Given the description of an element on the screen output the (x, y) to click on. 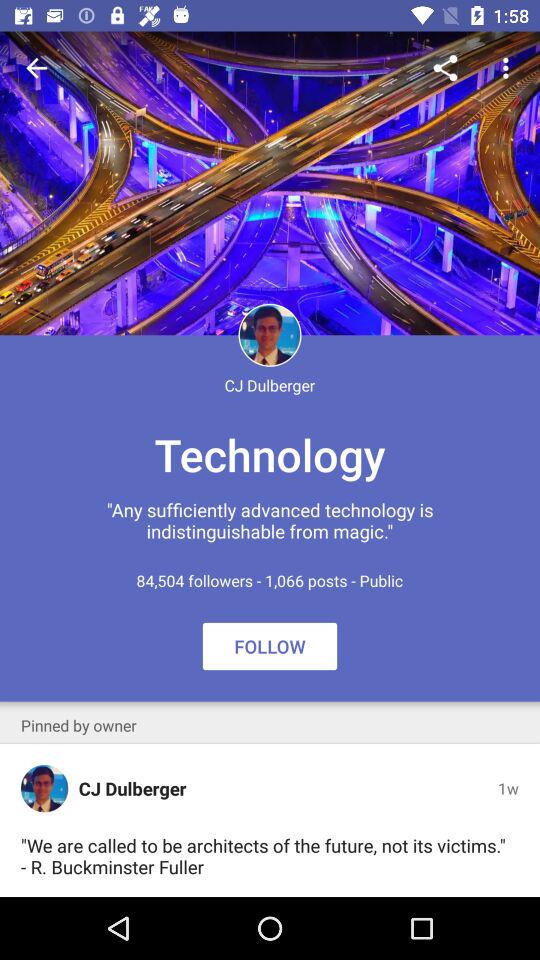
swipe until we are called icon (265, 856)
